Given the description of an element on the screen output the (x, y) to click on. 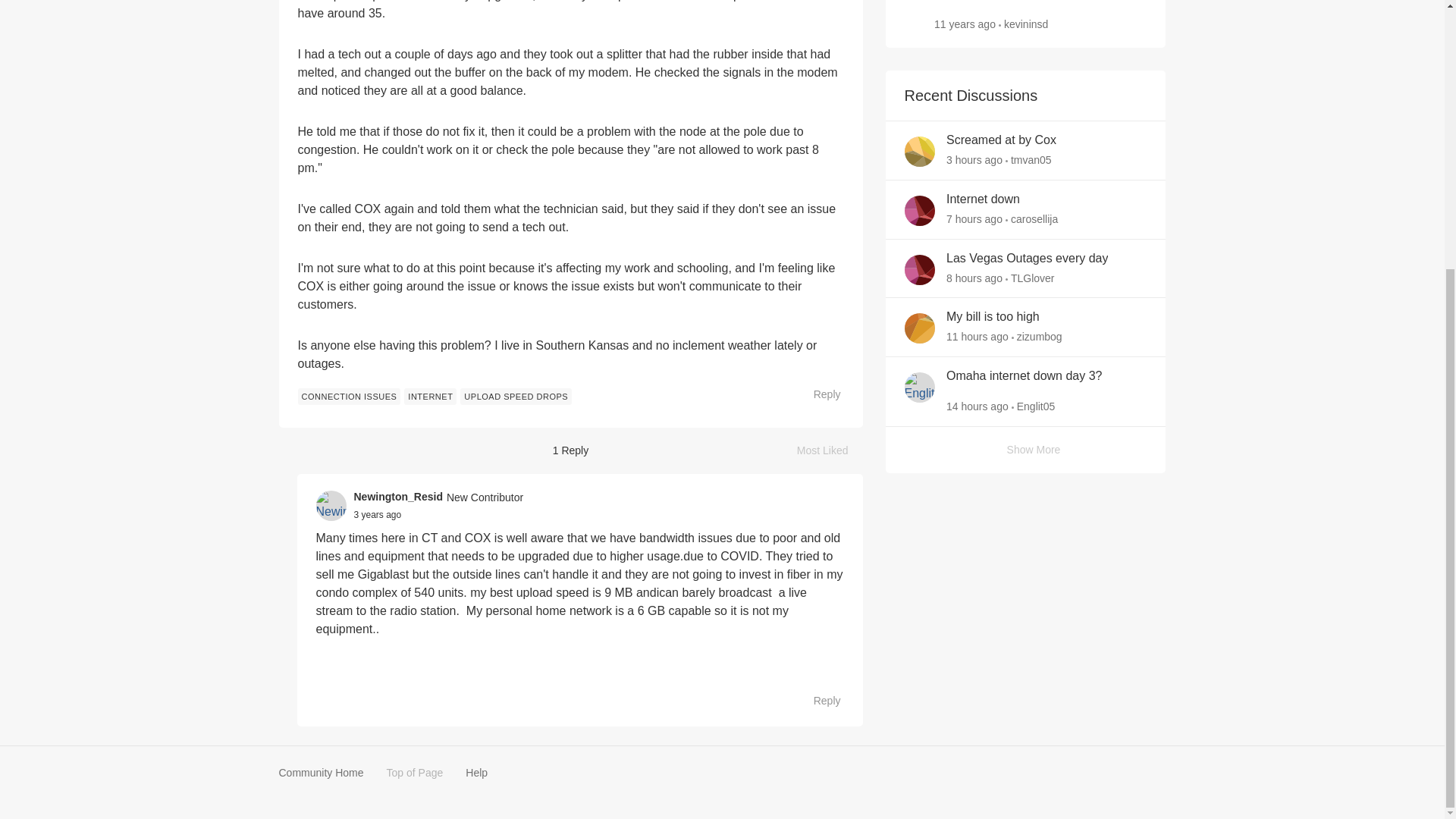
INTERNET (430, 396)
Slow upload speeds (988, 1)
August 2, 2024 at 7:11 PM (974, 218)
My bill is too high (992, 317)
3 years ago (377, 514)
September 20, 2021 at 11:34 AM (377, 514)
CONNECTION ISSUES (348, 396)
May 31, 2014 at 4:57 AM (964, 24)
August 2, 2024 at 6:26 PM (974, 277)
Screamed at by Cox (1001, 140)
